Given the description of an element on the screen output the (x, y) to click on. 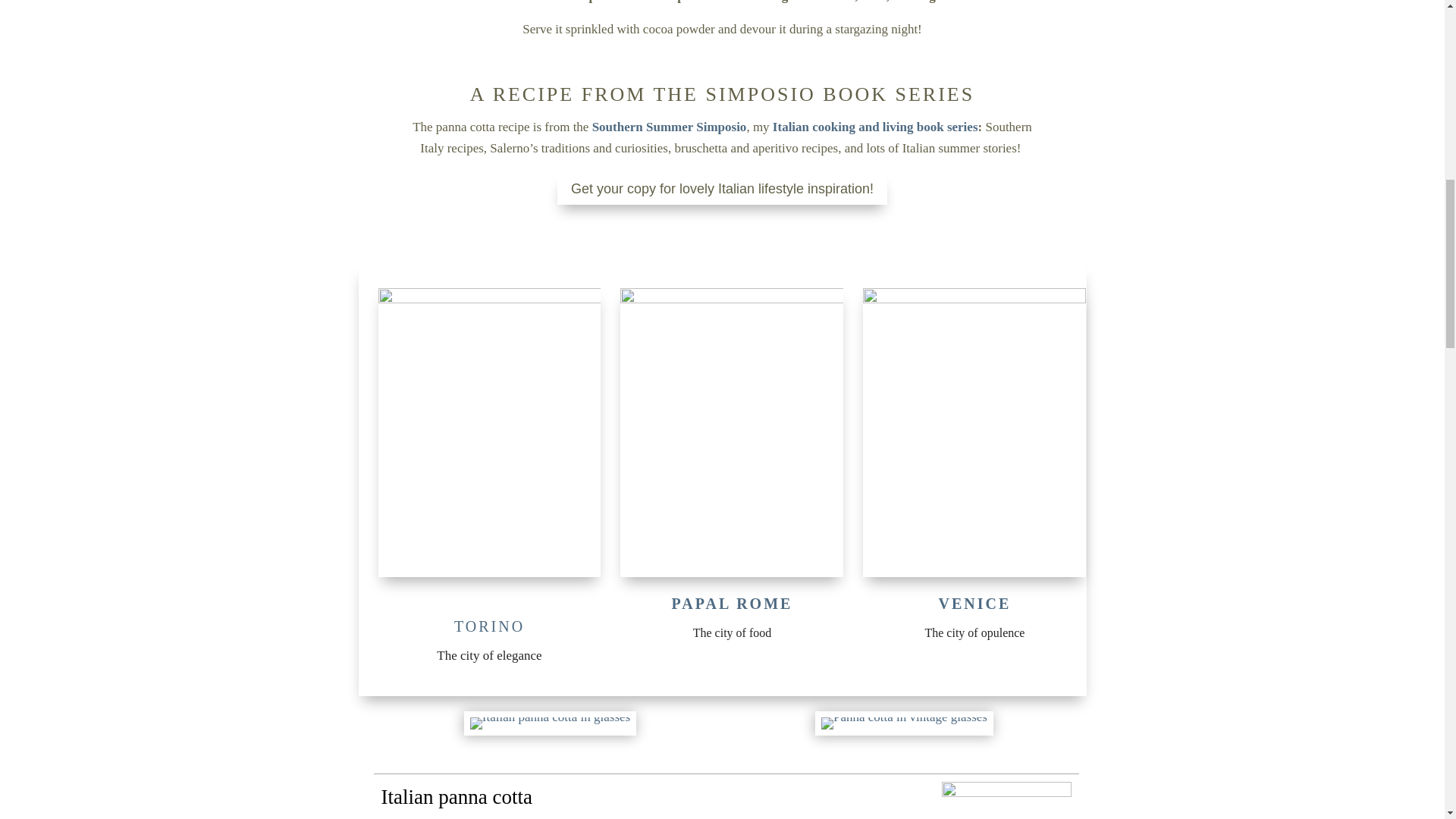
TORINO (489, 626)
easy-panna-cotta-recipe (550, 723)
Southern Summer Simposio (669, 126)
panna-cotta-vanilla-dessert (904, 723)
Get your copy for lovely Italian lifestyle inspiration! (721, 188)
Italian cooking and living book series (875, 126)
VENICE (975, 603)
PAPAL ROME (732, 603)
